Given the description of an element on the screen output the (x, y) to click on. 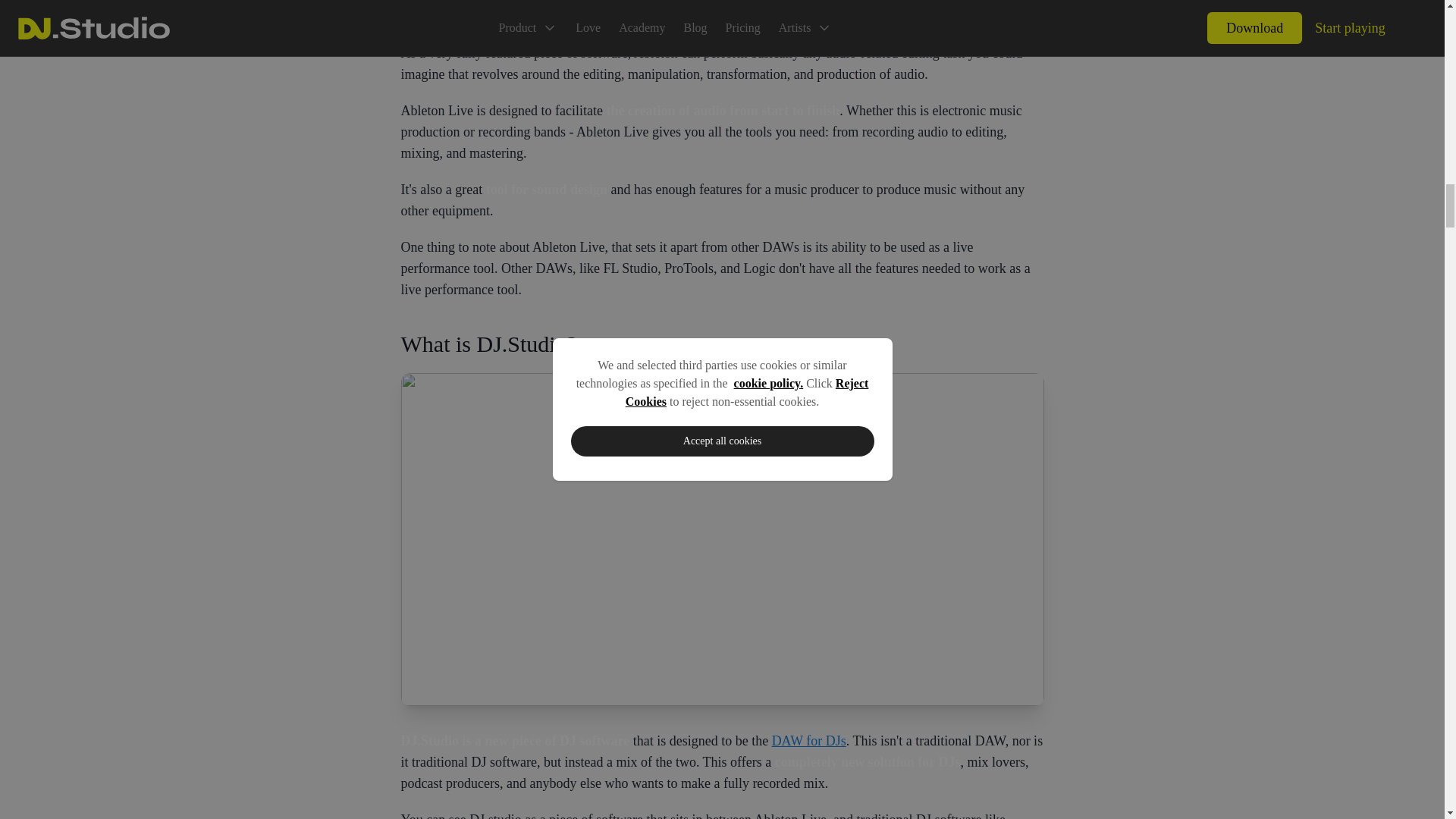
DAW for DJs (808, 740)
What is DJ.Studio? (721, 343)
